Given the description of an element on the screen output the (x, y) to click on. 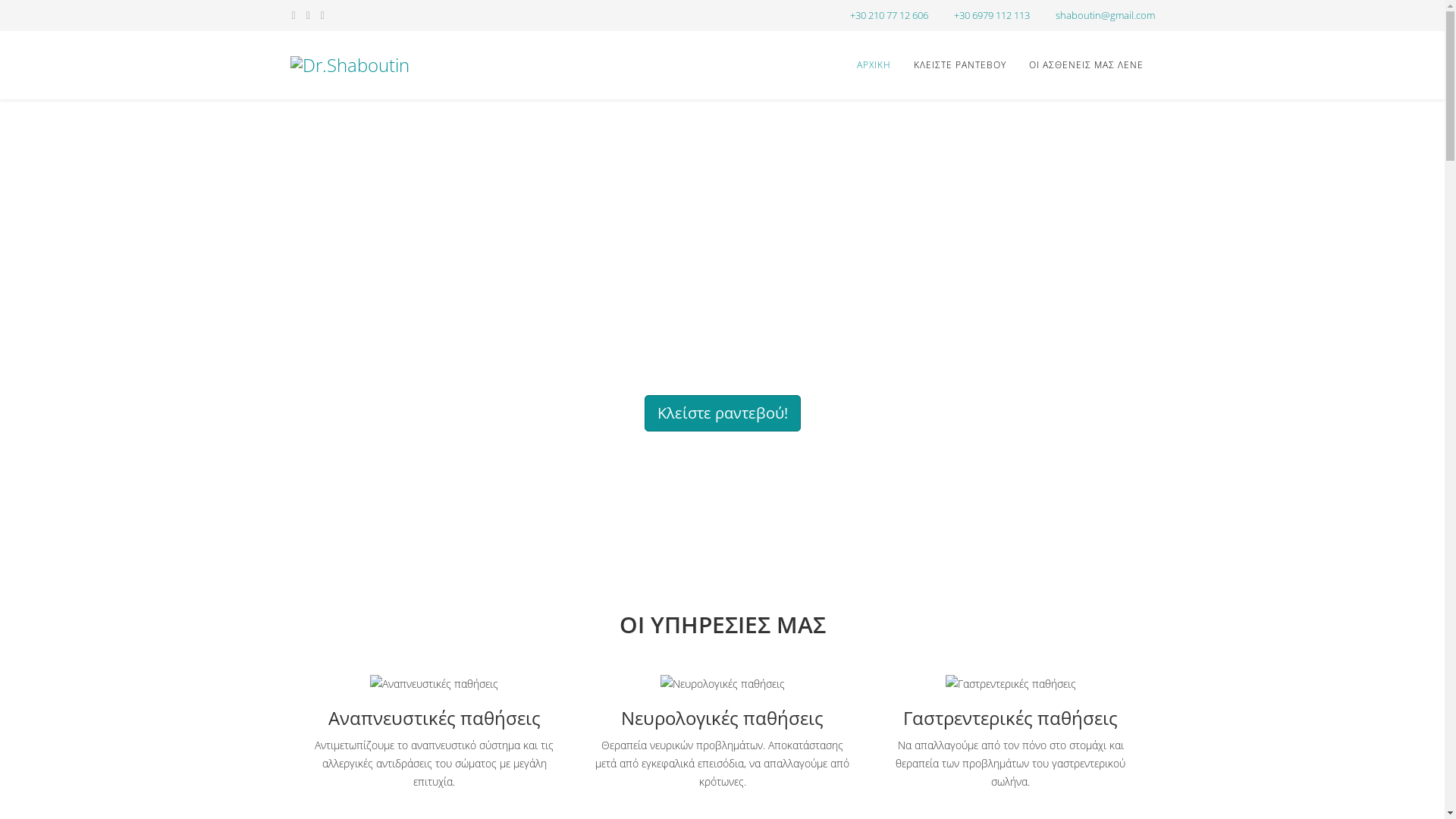
+30 210 77 12 606 Element type: text (889, 15)
+30 6979 112 113 Element type: text (991, 15)
shaboutin@gmail.com Element type: text (1104, 15)
